Given the description of an element on the screen output the (x, y) to click on. 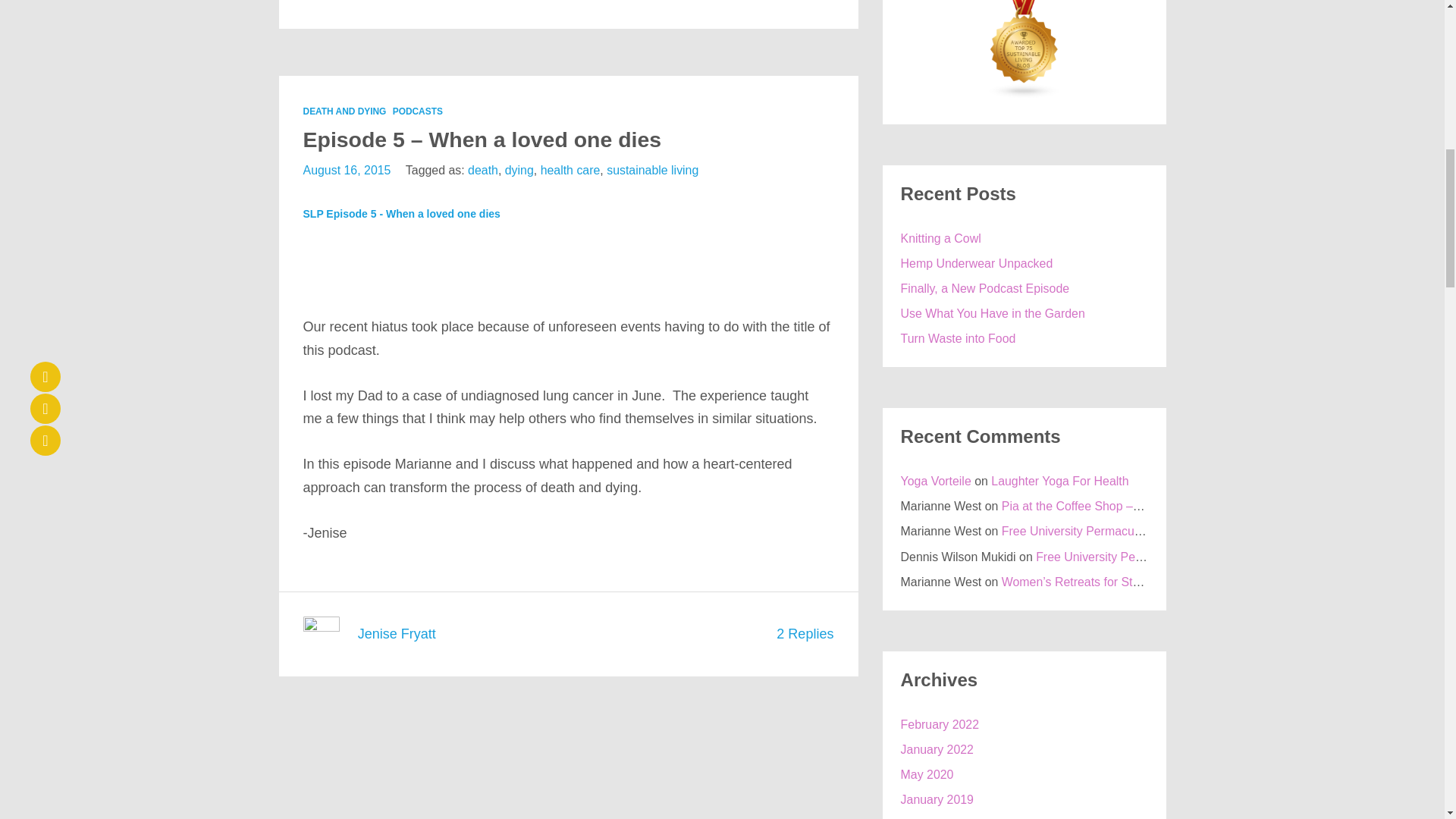
August 16, 2015 (346, 169)
2 Replies (804, 633)
sustainable living (652, 169)
dying (519, 169)
PODCASTS (417, 111)
DEATH AND DYING (344, 111)
Jenise Fryatt (396, 634)
health care (569, 169)
death (482, 169)
Sustainable Living blogs (1024, 93)
